Given the description of an element on the screen output the (x, y) to click on. 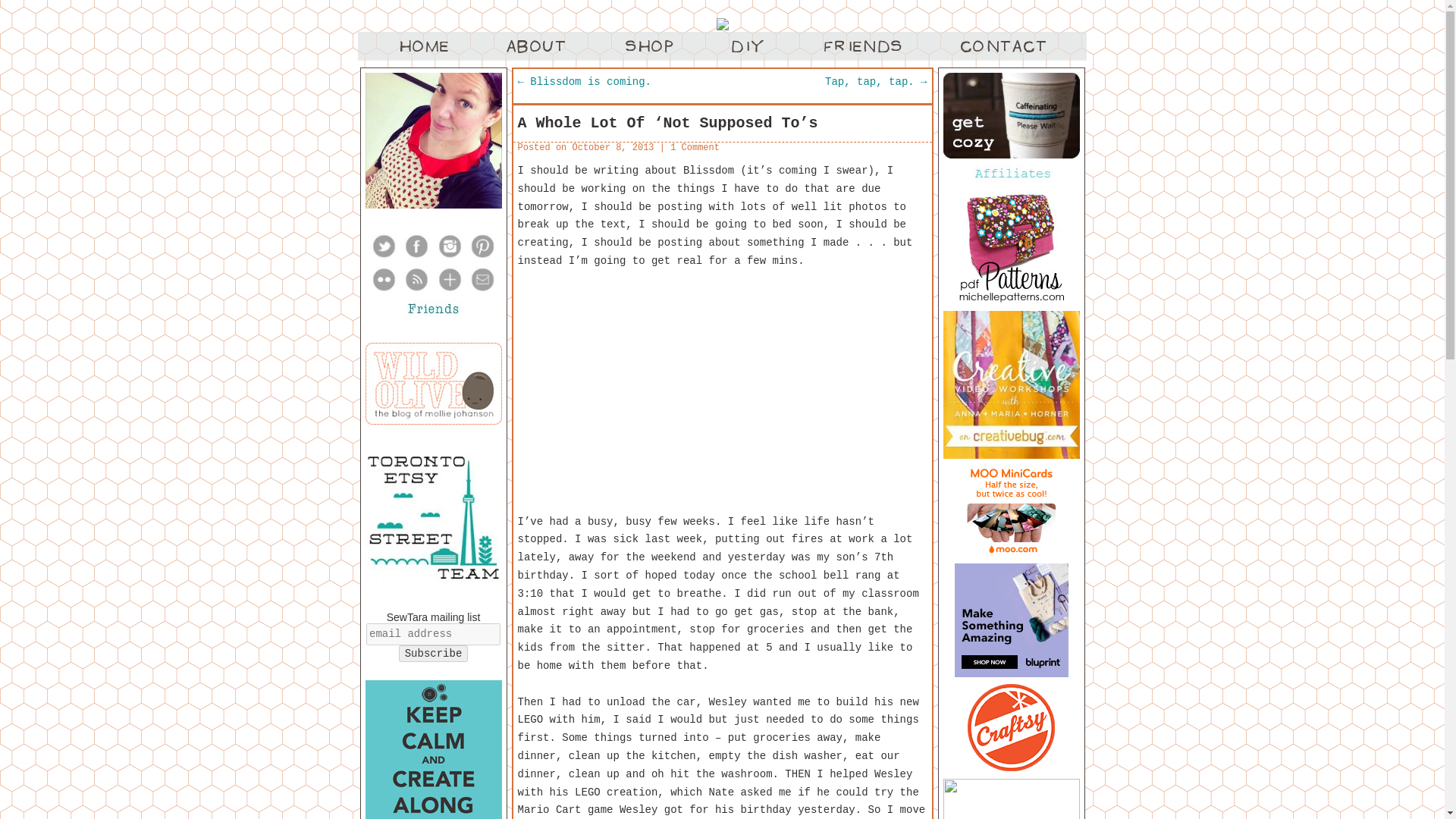
October 8, 2013 (612, 147)
8:18 pm (612, 147)
Subscribe (433, 653)
1 Comment (694, 147)
Subscribe (433, 653)
Subscribe to my feed (416, 289)
i heart you (721, 392)
